Given the description of an element on the screen output the (x, y) to click on. 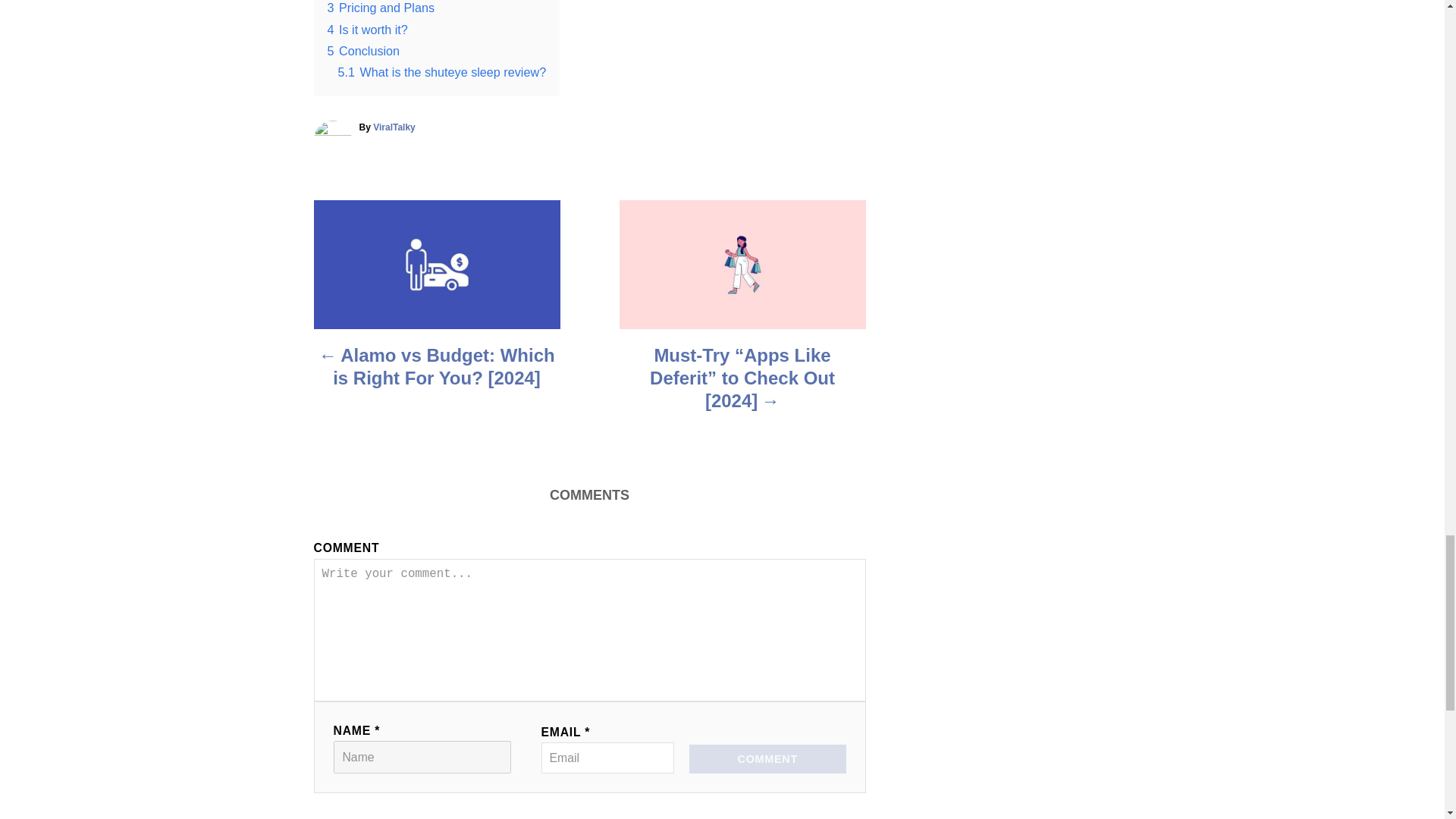
5 Conclusion (363, 50)
COMMENT (766, 758)
3 Pricing and Plans (381, 7)
4 Is it worth it? (367, 29)
ViralTalky (393, 127)
5.1 What is the shuteye sleep review? (442, 71)
